Given the description of an element on the screen output the (x, y) to click on. 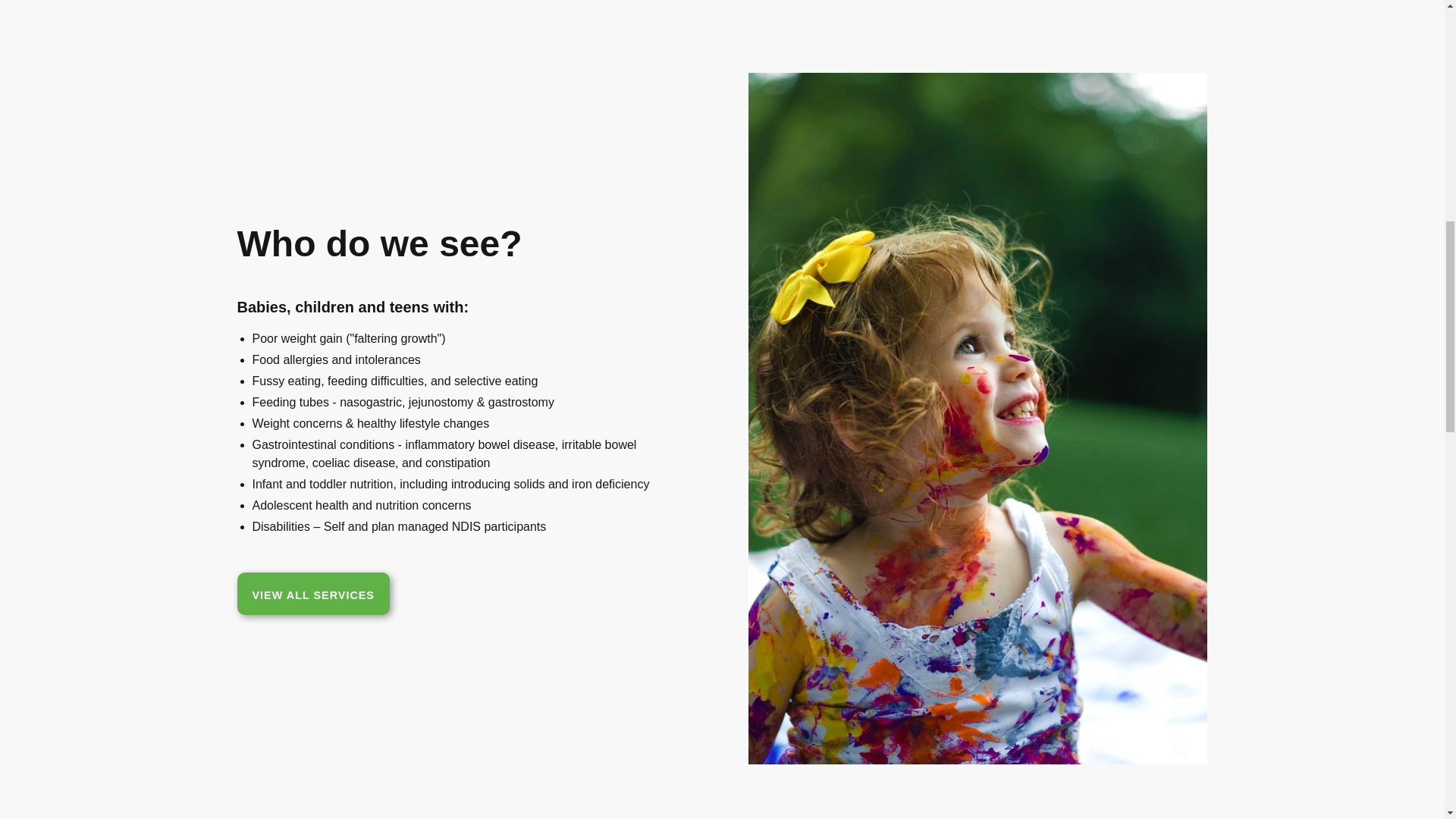
VIEW ALL SERVICES (311, 593)
